Given the description of an element on the screen output the (x, y) to click on. 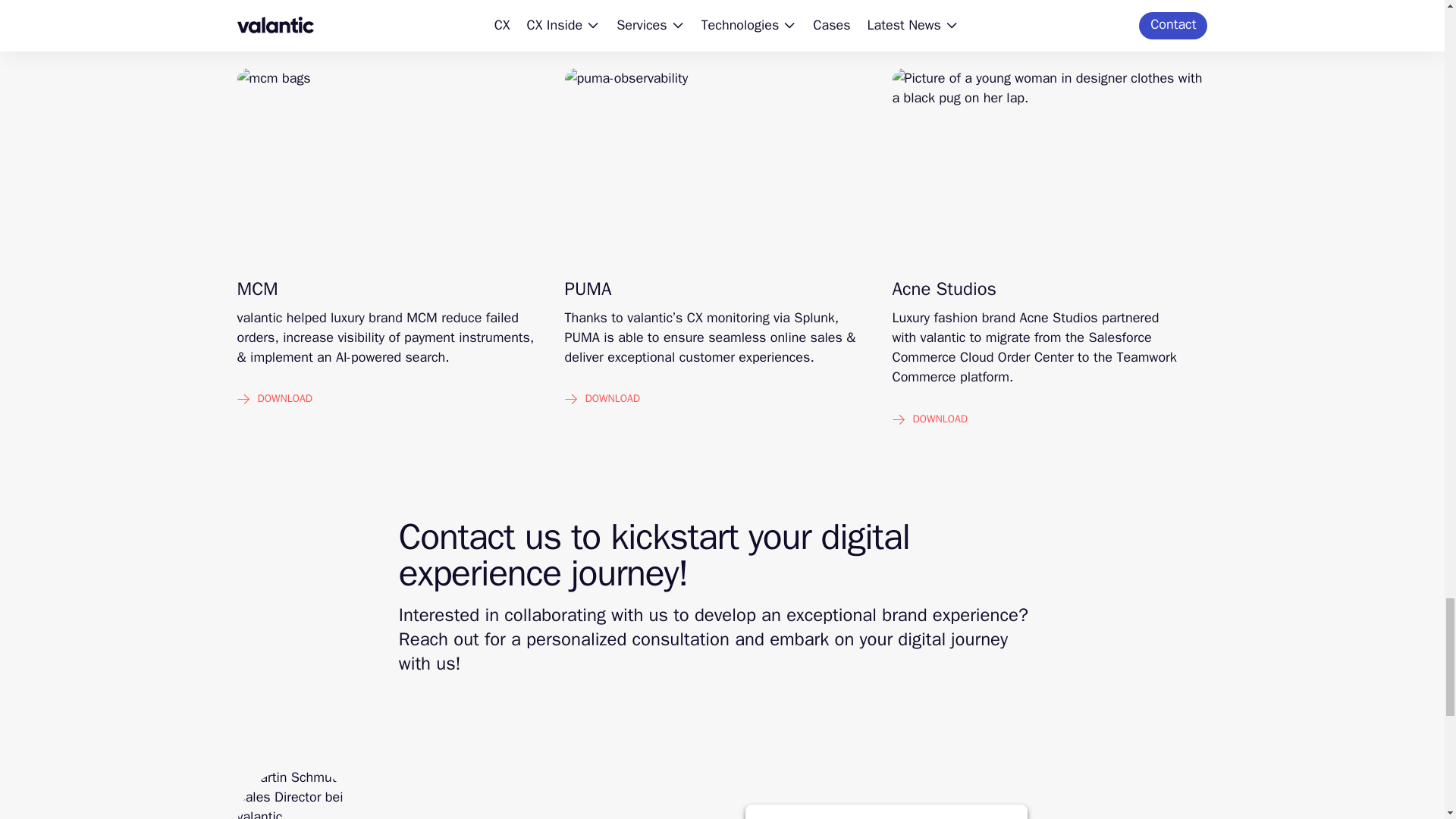
mcm-search (393, 166)
Martin Schmutz, Sales Director bei valantic (296, 793)
puma-observability-casestudy03 (721, 166)
acne-oms-01 (1049, 166)
